Given the description of an element on the screen output the (x, y) to click on. 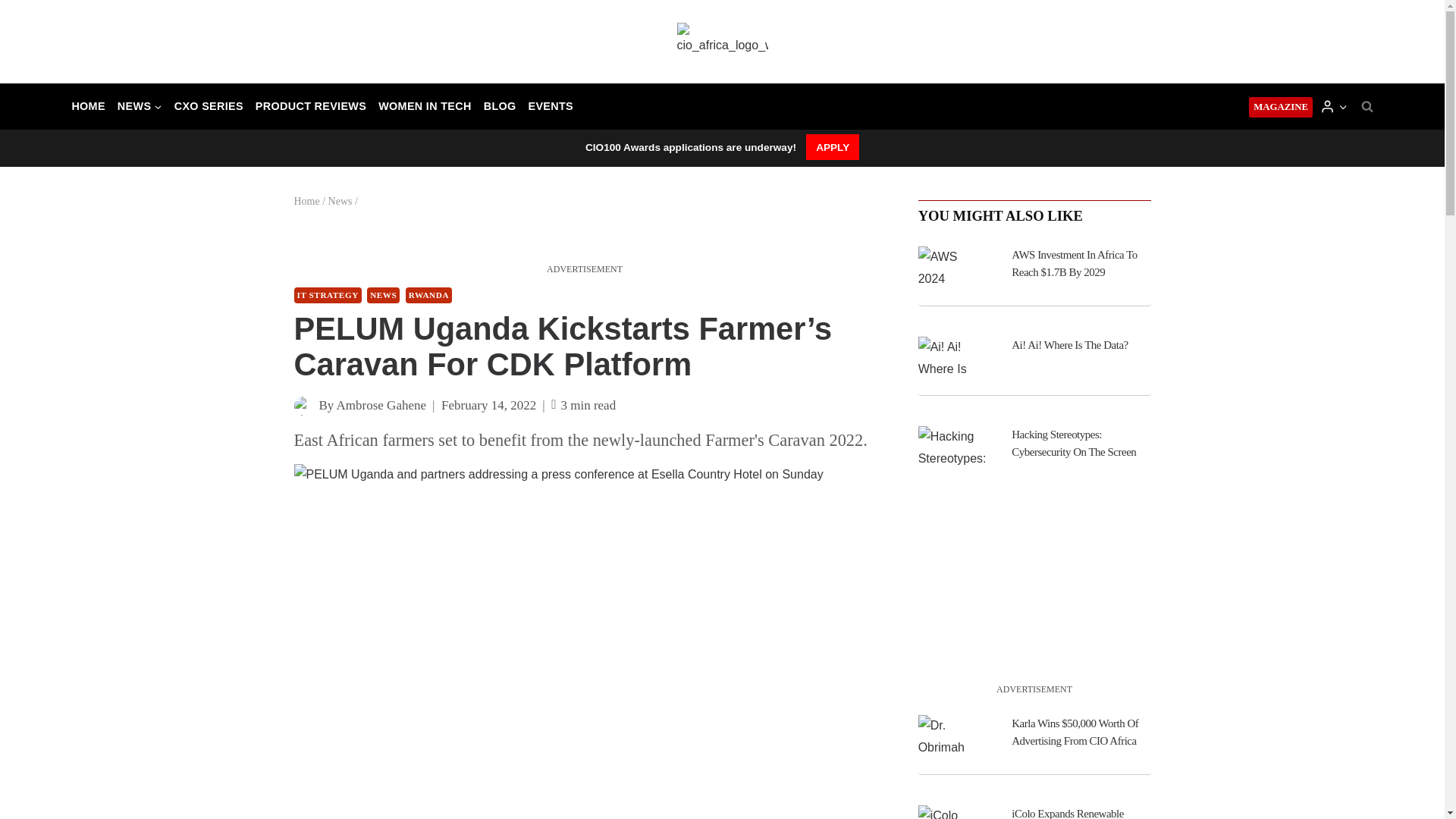
News (340, 201)
EVENTS (550, 106)
RWANDA (428, 295)
IT STRATEGY (327, 295)
PRODUCT REVIEWS (310, 106)
HOME (87, 106)
CXO SERIES (208, 106)
BLOG (499, 106)
APPLY (832, 146)
WOMEN IN TECH (424, 106)
